Given the description of an element on the screen output the (x, y) to click on. 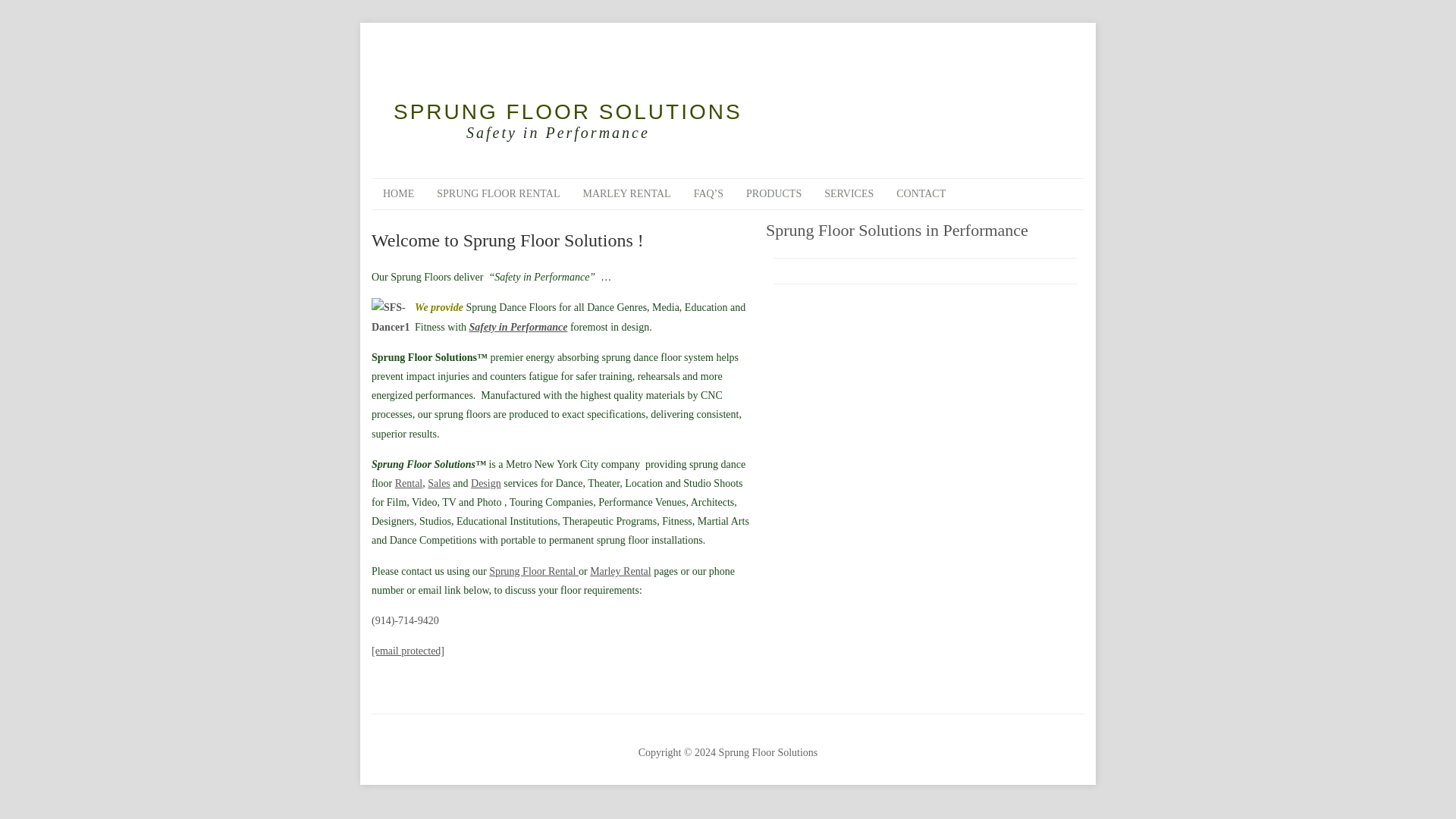
Design (485, 482)
About (517, 326)
Marley Rental (619, 571)
SPRUNG FLOOR RENTAL (497, 194)
SPRUNG FLOOR SOLUTIONS (741, 111)
Rental (408, 482)
Headway Premium WordPress Theme (560, 726)
HOME (398, 194)
Safety in Performance (517, 326)
Sprung Floor Rental (533, 571)
